Given the description of an element on the screen output the (x, y) to click on. 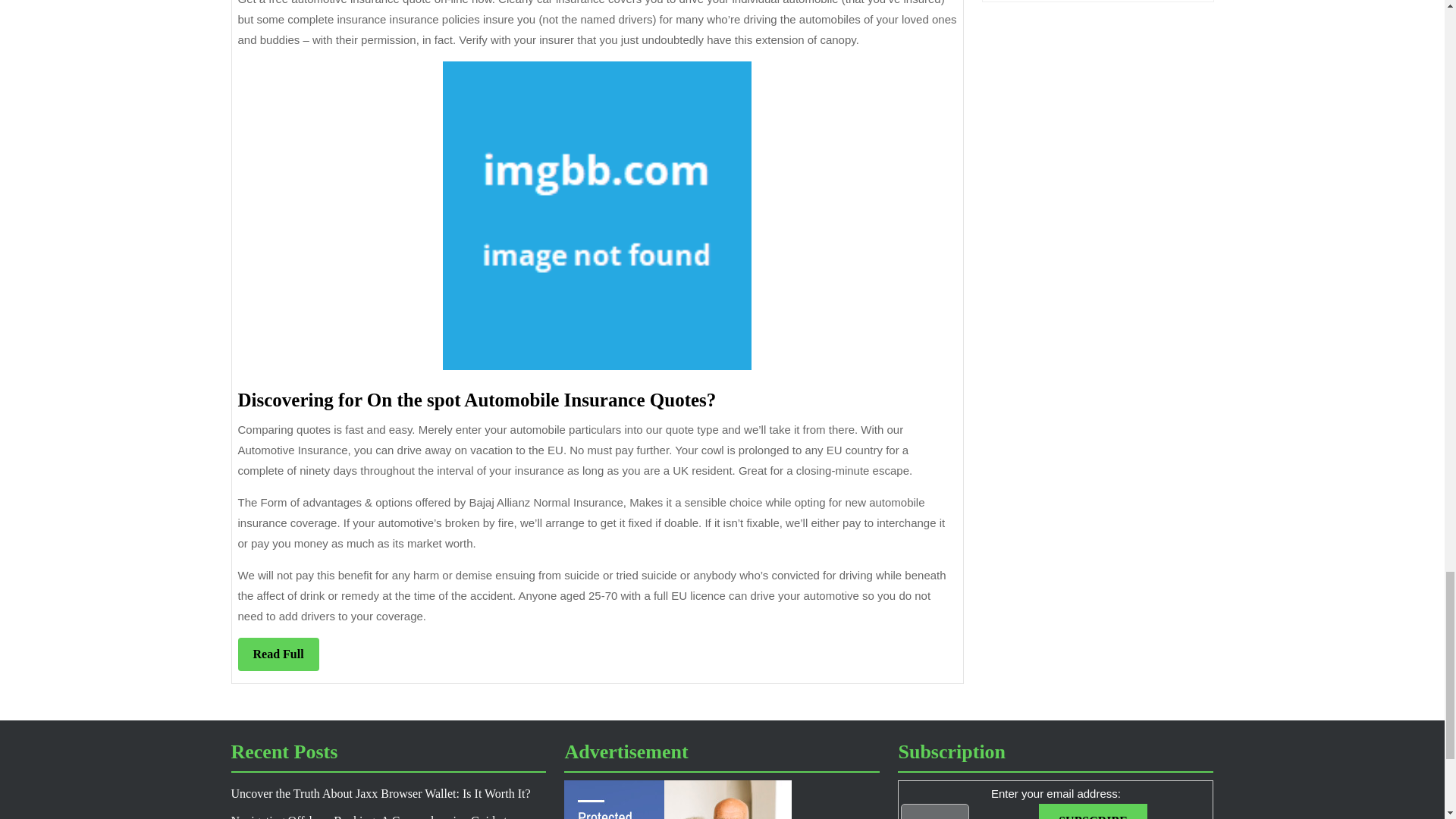
Subscribe (1093, 811)
